Given the description of an element on the screen output the (x, y) to click on. 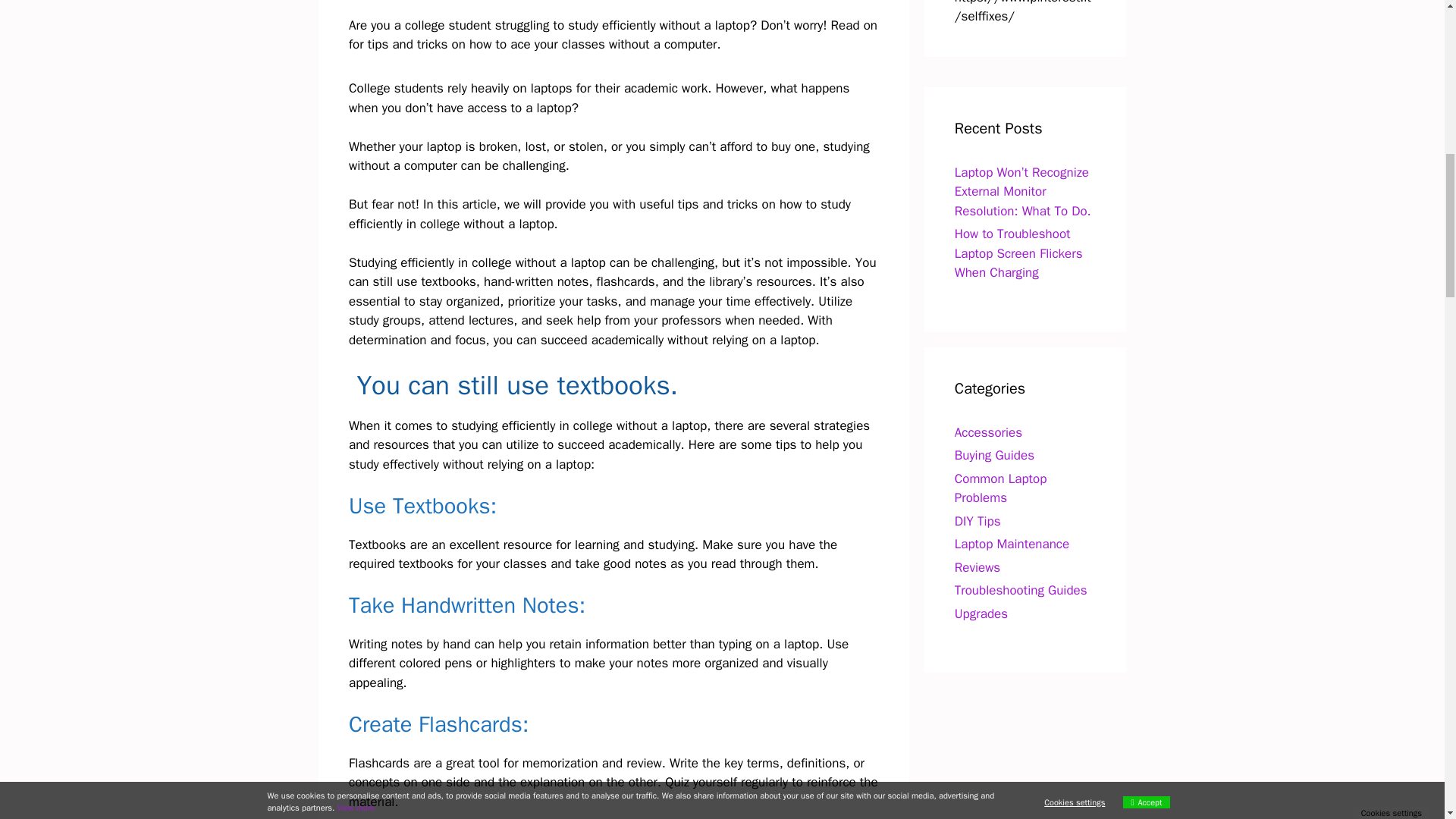
How to Troubleshoot Laptop Screen Flickers When Charging (1019, 253)
Scroll back to top (1406, 720)
DIY Tips (978, 520)
Common Laptop Problems (1000, 488)
Buying Guides (994, 455)
Accessories (988, 432)
